Given the description of an element on the screen output the (x, y) to click on. 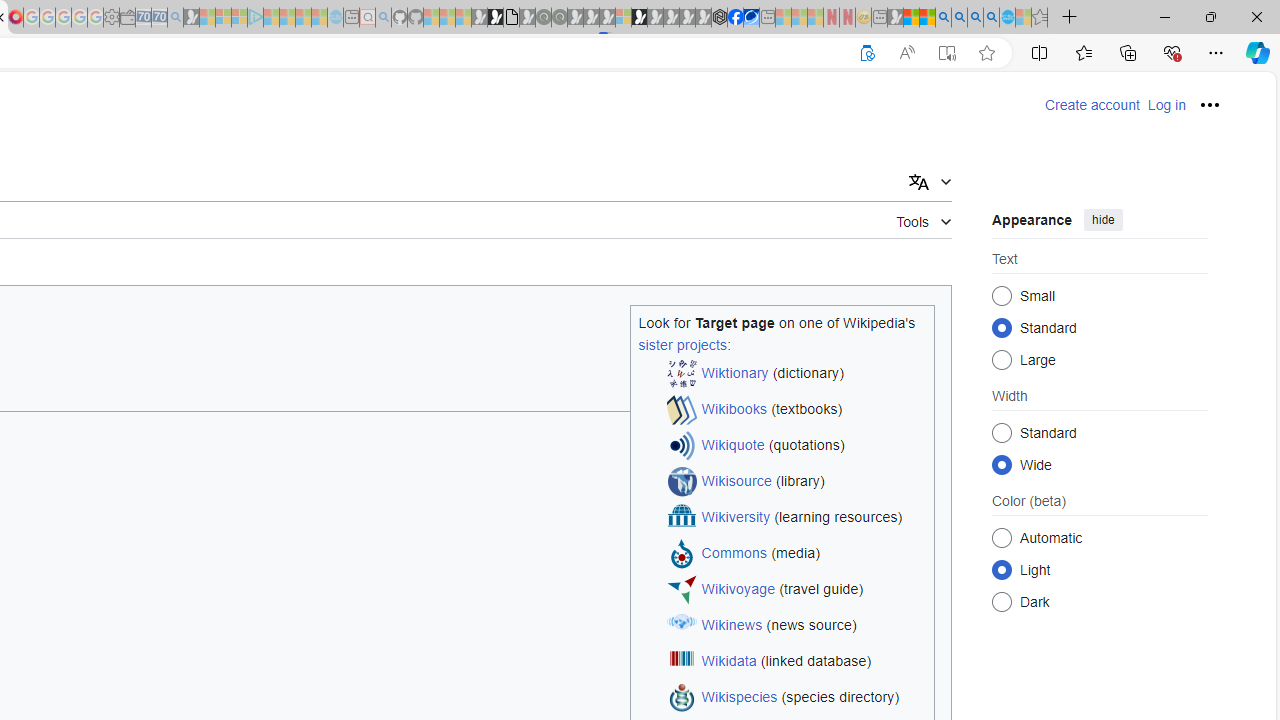
Commons (media) (796, 554)
Dark (1002, 601)
Home | Sky Blue Bikes - Sky Blue Bikes - Sleeping (335, 17)
Wikivoyage (travel guide) (796, 590)
Wiktionary (dictionary) (796, 374)
